Given the description of an element on the screen output the (x, y) to click on. 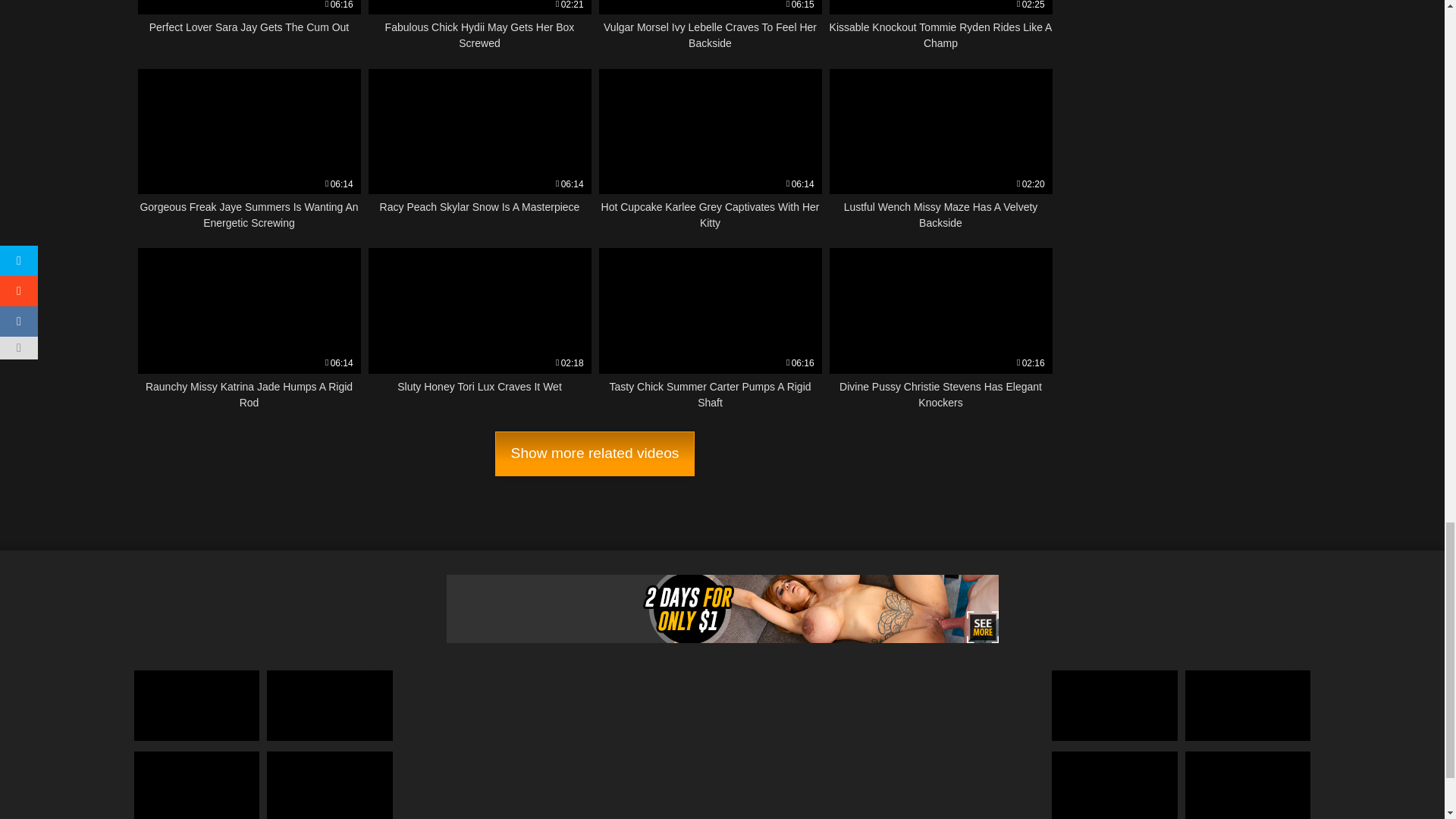
Perfect Lover Sara Jay Gets The Cum Out (249, 25)
Show more related videos (940, 25)
Gorgeous Freak Jaye Summers Is Wanting An Energetic Screwing (594, 453)
Tasty Chick Summer Carter Pumps A Rigid Shaft (249, 149)
Vulgar Morsel Ivy Lebelle Craves To Feel Her Backside (710, 149)
Kissable Knockout Tommie Ryden Rides Like A Champ (710, 329)
Racy Peach Skylar Snow Is A Masterpiece (710, 25)
